Given the description of an element on the screen output the (x, y) to click on. 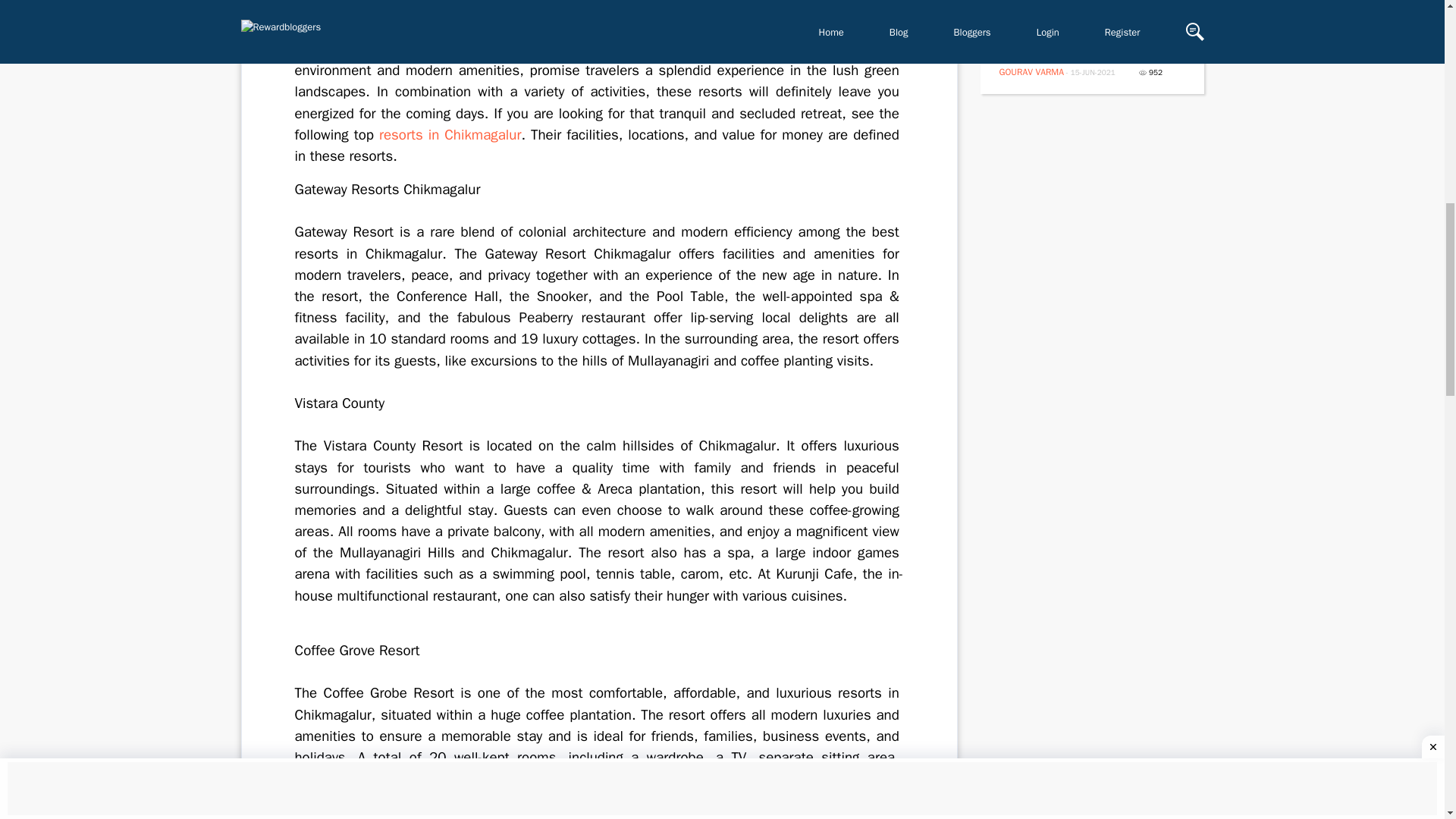
How To Stay Motivated Losing Weight (1080, 38)
resorts in Chikmagalur (449, 135)
GOURAV VARMA (1031, 71)
